Given the description of an element on the screen output the (x, y) to click on. 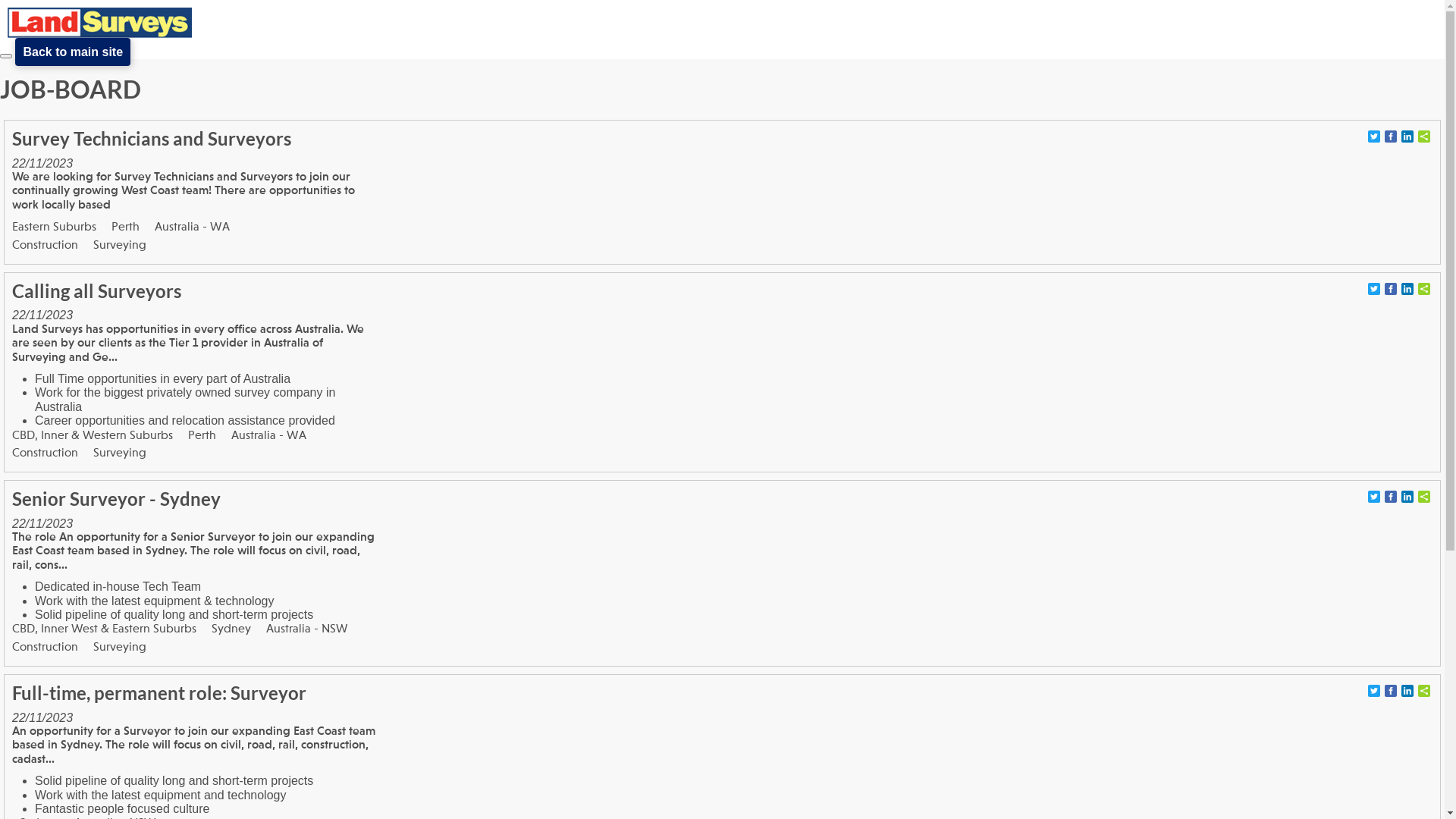
Surveying Element type: text (119, 453)
Senior Surveyor - Sydney Element type: text (116, 498)
Australia - NSW Element type: text (307, 629)
Eastern Suburbs Element type: text (54, 227)
Australia - WA Element type: text (191, 227)
CBD, Inner West & Eastern Suburbs Element type: text (104, 629)
Full-time, permanent role: Surveyor Element type: text (159, 692)
Surveying Element type: text (119, 647)
Construction Element type: text (45, 453)
CBD, Inner & Western Suburbs Element type: text (92, 435)
Construction Element type: text (45, 245)
Construction Element type: text (45, 647)
Surveying Element type: text (119, 245)
Perth Element type: text (125, 227)
Australia - WA Element type: text (268, 435)
Perth Element type: text (202, 435)
Calling all Surveyors Element type: text (96, 290)
Sydney Element type: text (231, 629)
Back to main site Element type: text (72, 51)
Survey Technicians and Surveyors Element type: text (151, 138)
